Given the description of an element on the screen output the (x, y) to click on. 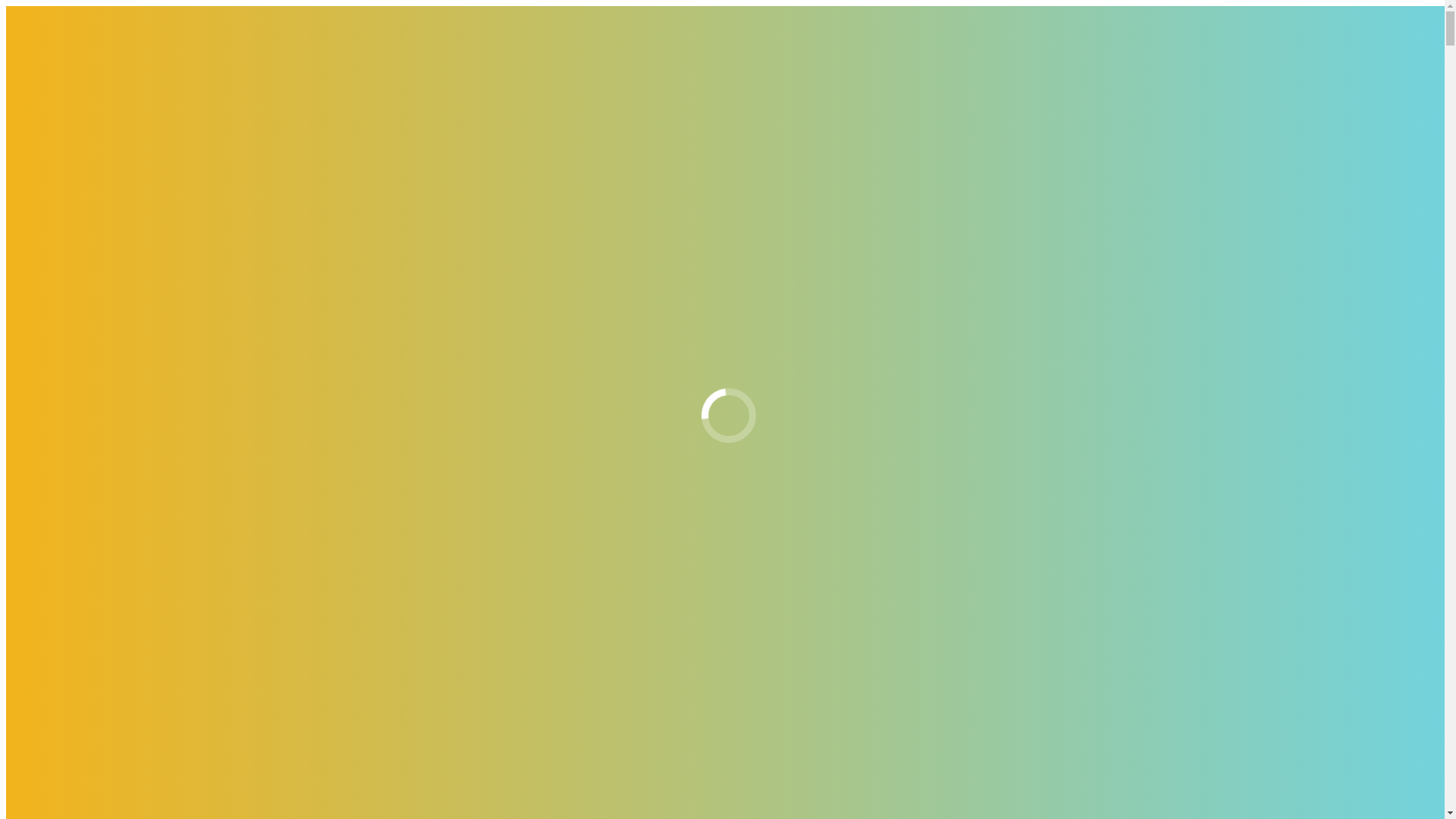
Home (50, 169)
DPB Podcast (68, 456)
Instagram page opens in new window (97, 103)
Edit Profile (94, 524)
Disney Pins (126, 237)
YouTube page opens in new window (461, 103)
Pin Categories (71, 401)
Search form (72, 593)
Go! (19, 609)
Cart (76, 333)
